Given the description of an element on the screen output the (x, y) to click on. 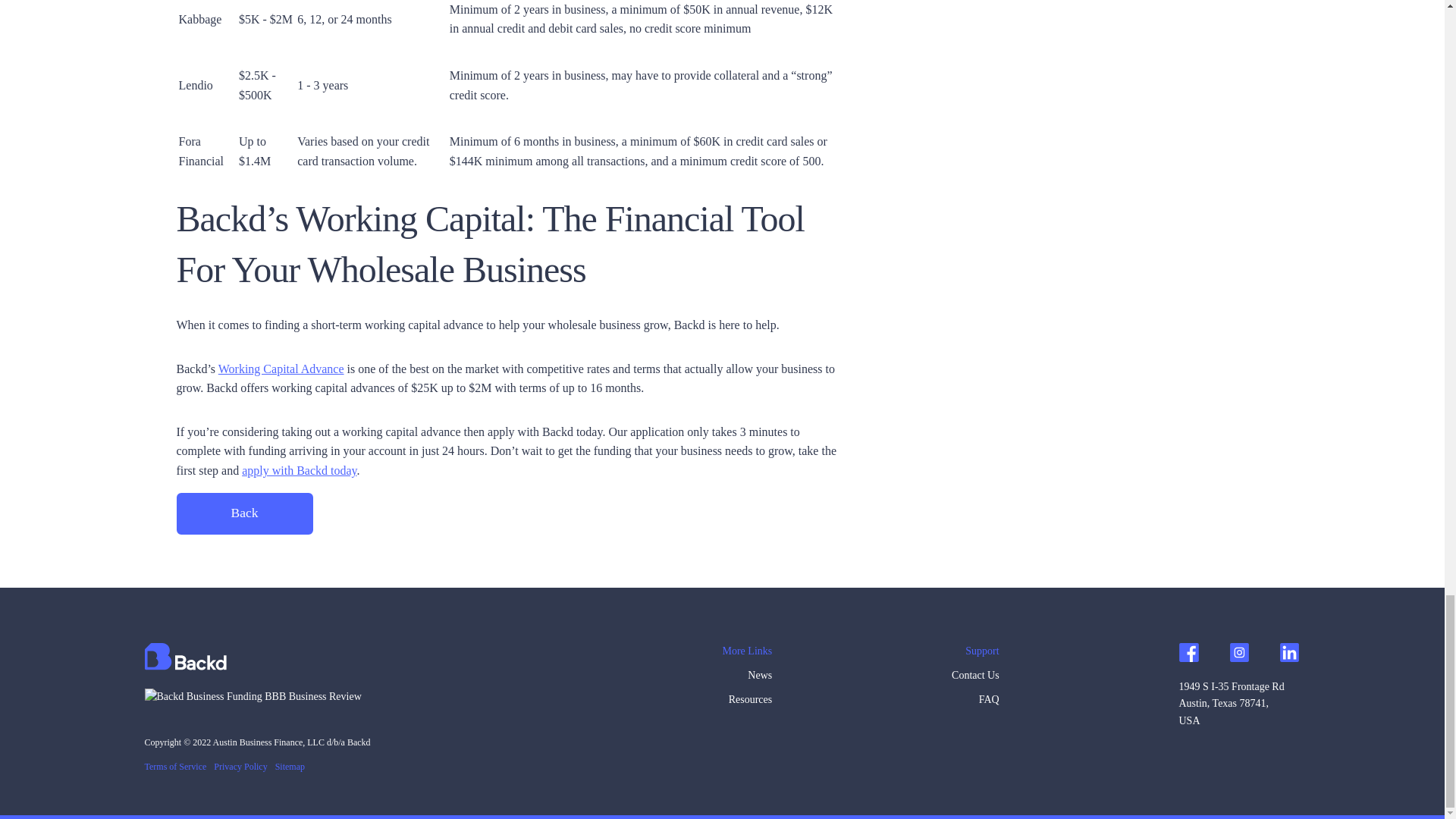
Back (244, 513)
apply with Backd today (298, 470)
Resources (746, 703)
Terms of Service (179, 766)
News (746, 679)
Sitemap (294, 766)
FAQ (975, 703)
Privacy Policy (244, 766)
Working Capital Advance (280, 368)
Contact Us (975, 679)
